Given the description of an element on the screen output the (x, y) to click on. 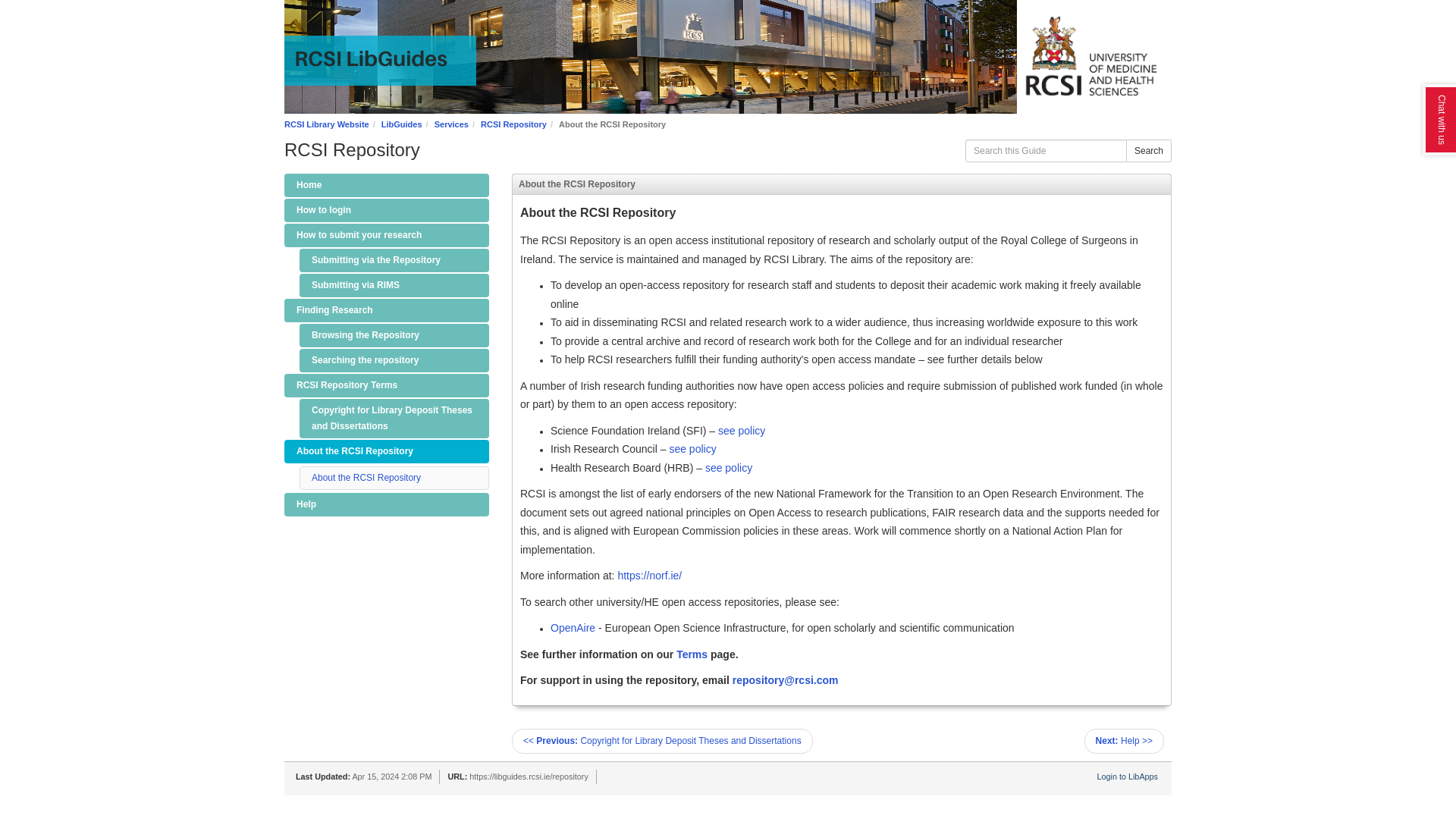
How to login (386, 210)
Submitting via the Repository (394, 259)
Finding Research (386, 310)
Login to LibApps (1127, 776)
LibGuides (401, 123)
see policy (741, 430)
RCSI Library Website (326, 123)
OpenAire (572, 627)
Help (386, 504)
see policy (728, 467)
Services (450, 123)
Browsing the Repository (394, 335)
RCSI Repository Terms (386, 385)
Submitting via RIMS (394, 285)
RCSI Repository (513, 123)
